Given the description of an element on the screen output the (x, y) to click on. 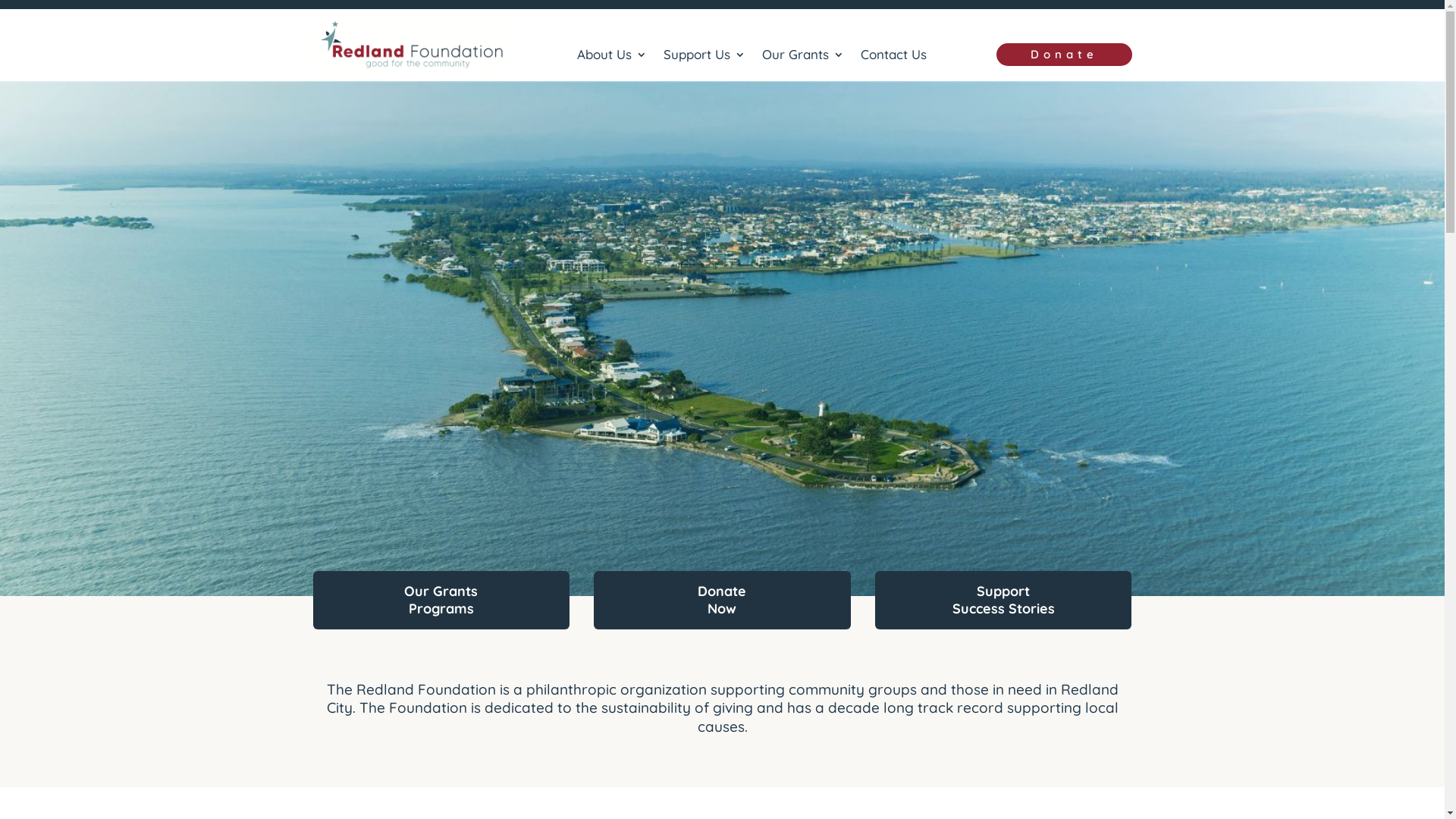
About Us Element type: text (611, 57)
Contact Us Element type: text (893, 57)
Support Us Element type: text (704, 57)
Redland Foundation Logo Element type: hover (409, 44)
Donate Element type: text (1064, 54)
Our Grants Element type: text (803, 57)
Redland Foundation Element type: hover (722, 338)
